Given the description of an element on the screen output the (x, y) to click on. 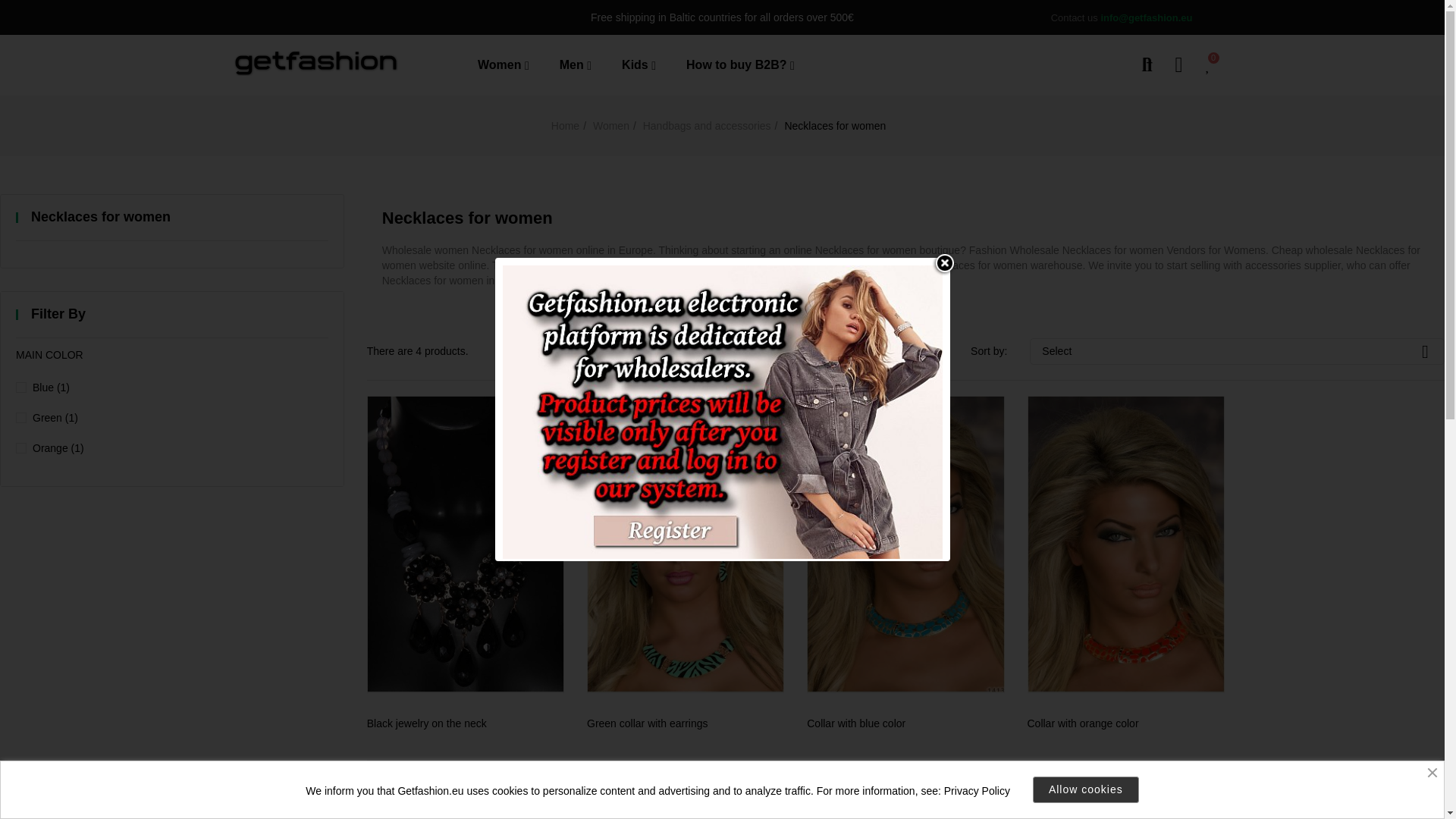
Women (510, 65)
